Given the description of an element on the screen output the (x, y) to click on. 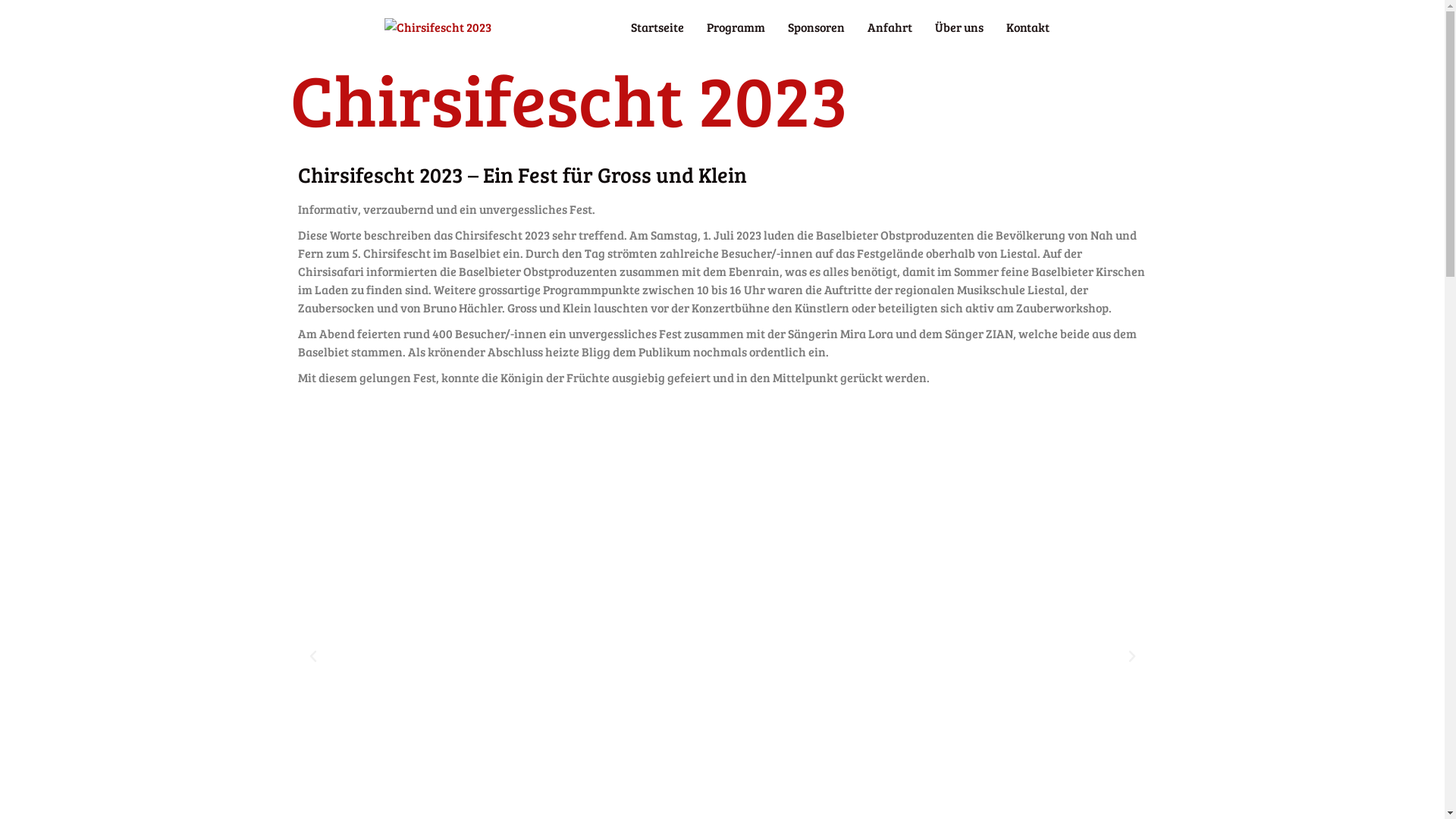
Sponsoren Element type: text (816, 27)
Anfahrt Element type: text (888, 27)
Startseite Element type: text (656, 27)
Startseite Element type: text (722, 78)
Kontakt Element type: text (1027, 27)
Programm Element type: text (734, 27)
